Given the description of an element on the screen output the (x, y) to click on. 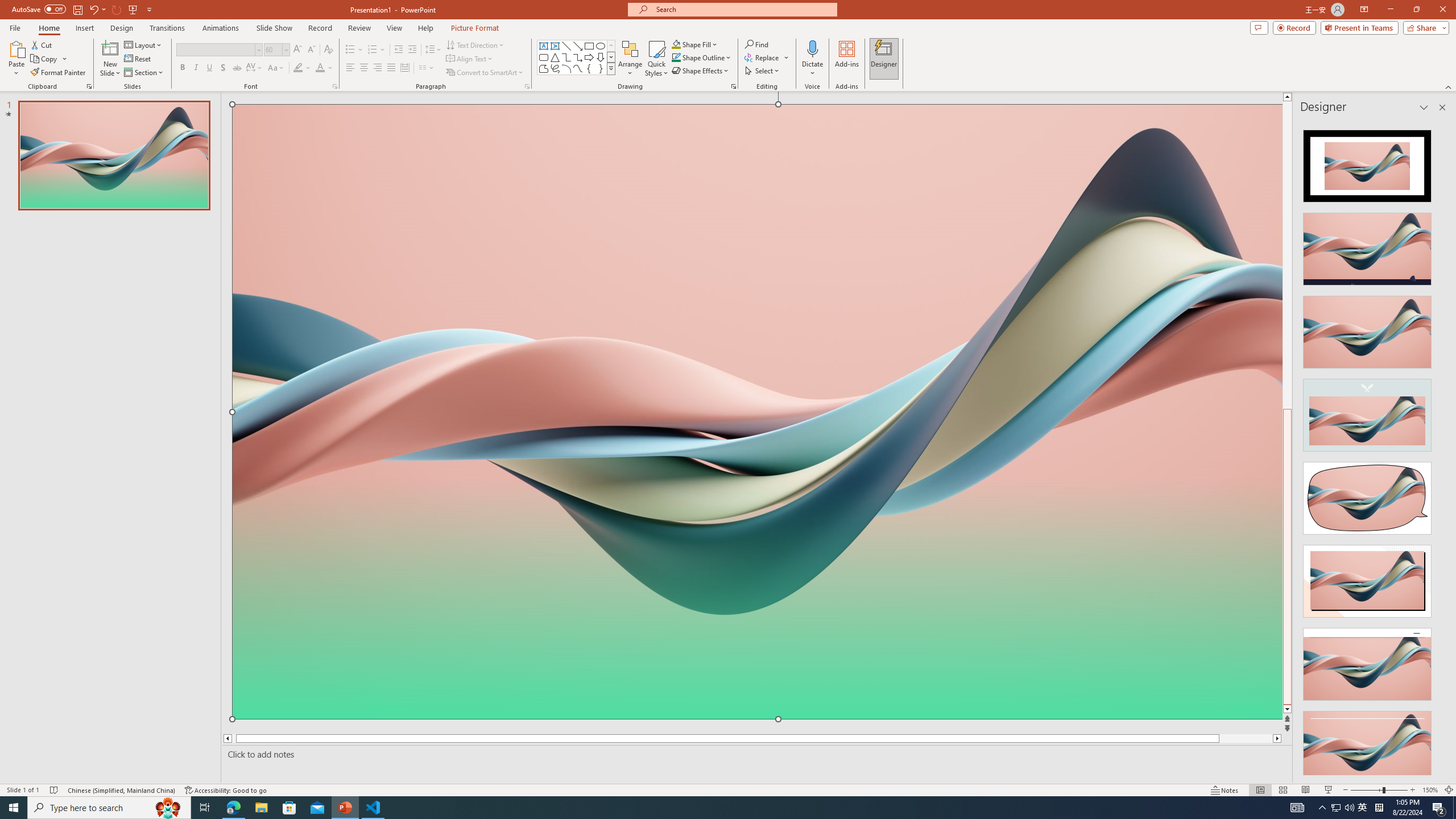
Zoom 150% (1430, 790)
